Given the description of an element on the screen output the (x, y) to click on. 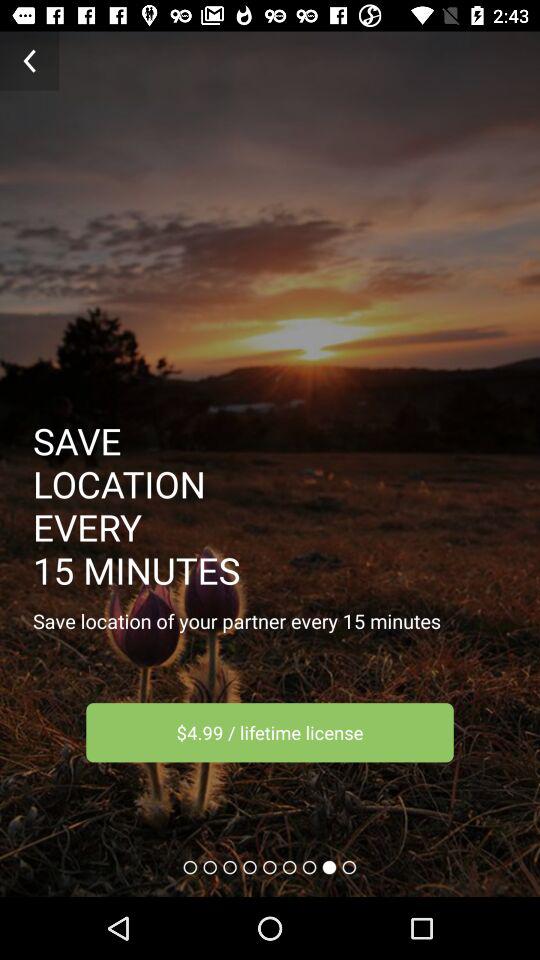
press the icon above save location every item (29, 60)
